Given the description of an element on the screen output the (x, y) to click on. 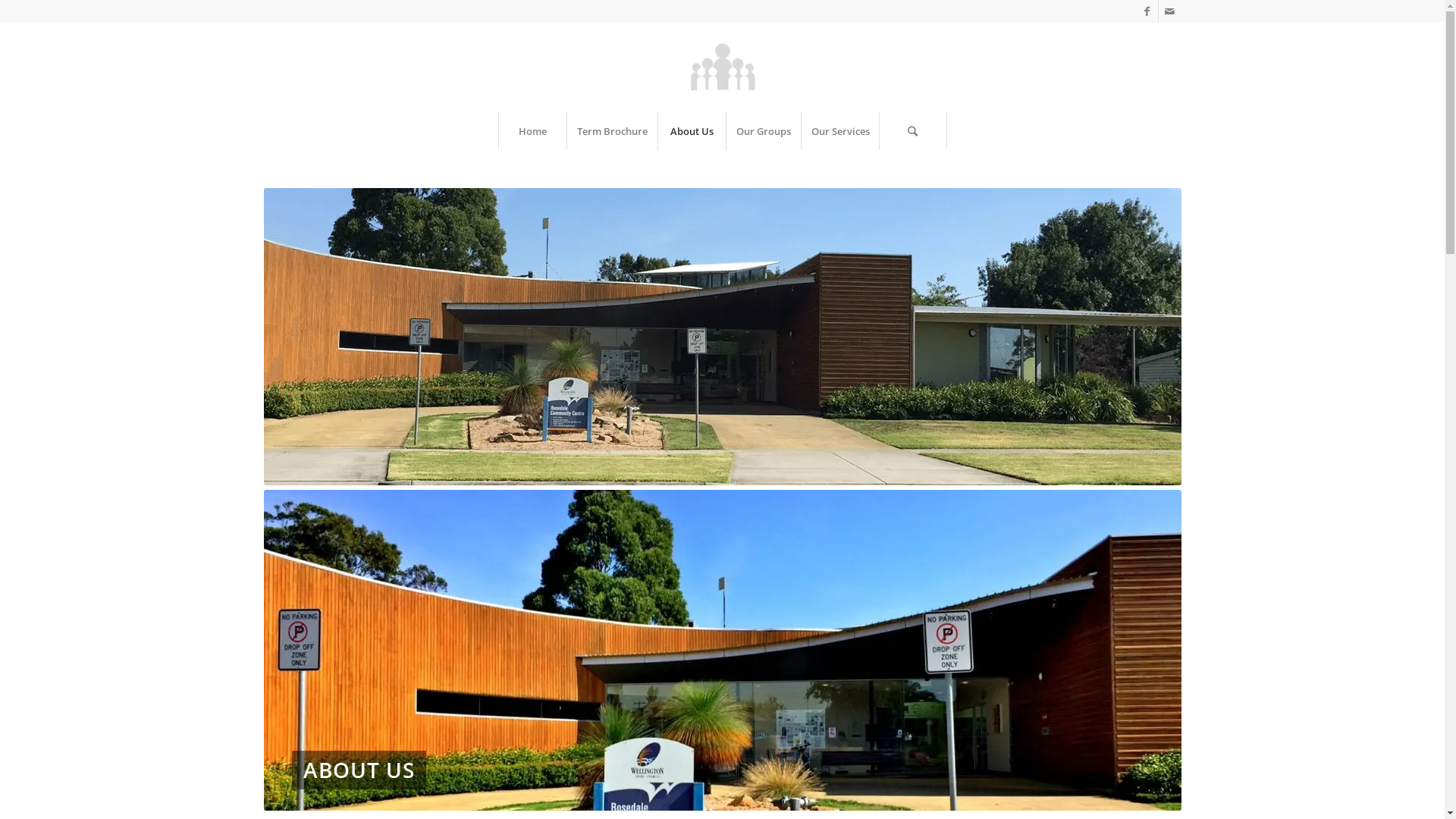
Home Element type: text (531, 131)
Our Groups Element type: text (762, 131)
Our Services Element type: text (839, 131)
About Us Element type: text (690, 131)
Term Brochure Element type: text (610, 131)
Mail Element type: hover (1169, 11)
Facebook Element type: hover (1146, 11)
img_2580 Element type: hover (722, 649)
